Given the description of an element on the screen output the (x, y) to click on. 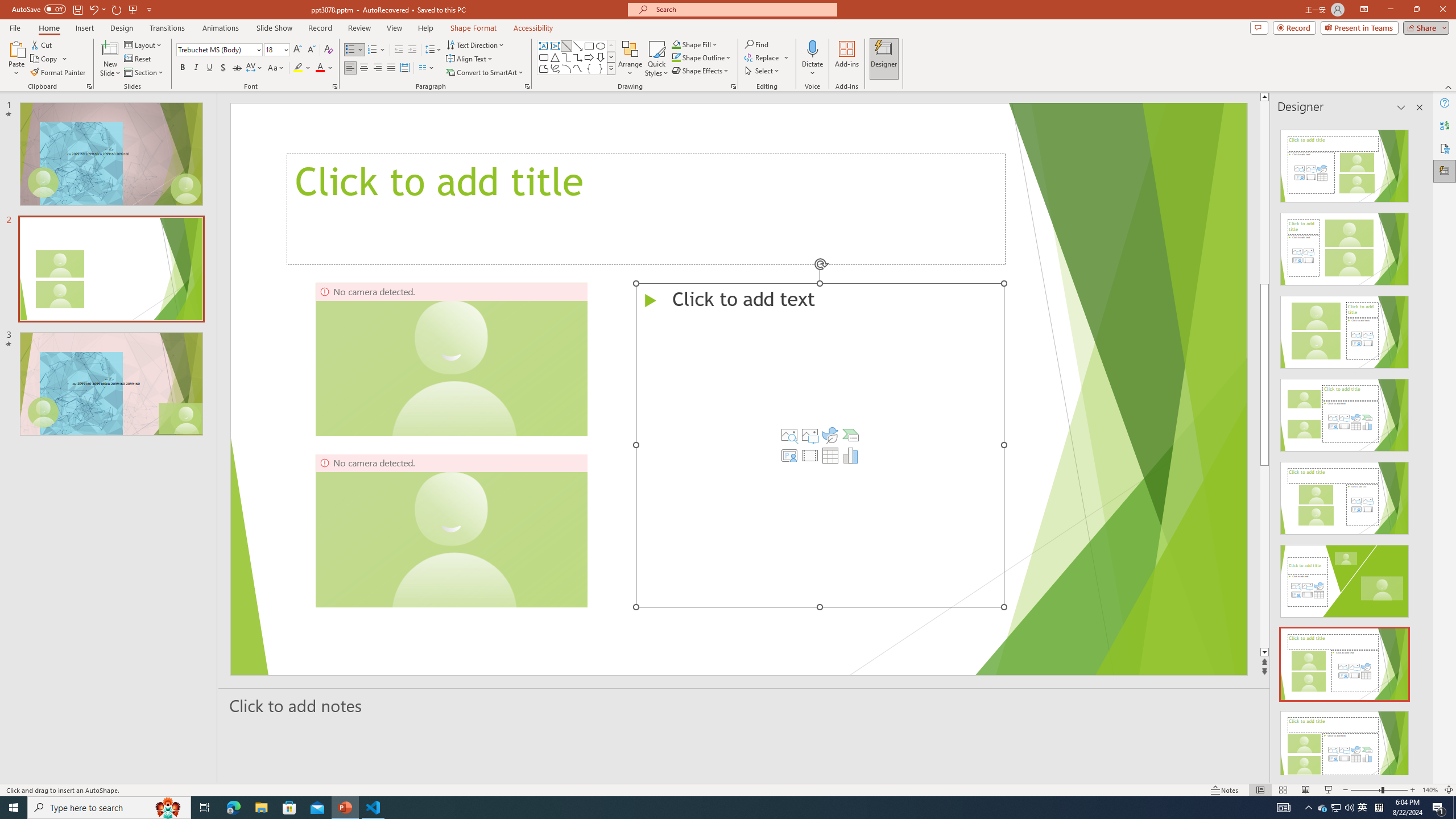
Center (363, 67)
Shape Outline (701, 56)
Arrange (630, 58)
Line Arrow (577, 45)
Cut (42, 44)
Layout (143, 44)
Curve (577, 68)
